Given the description of an element on the screen output the (x, y) to click on. 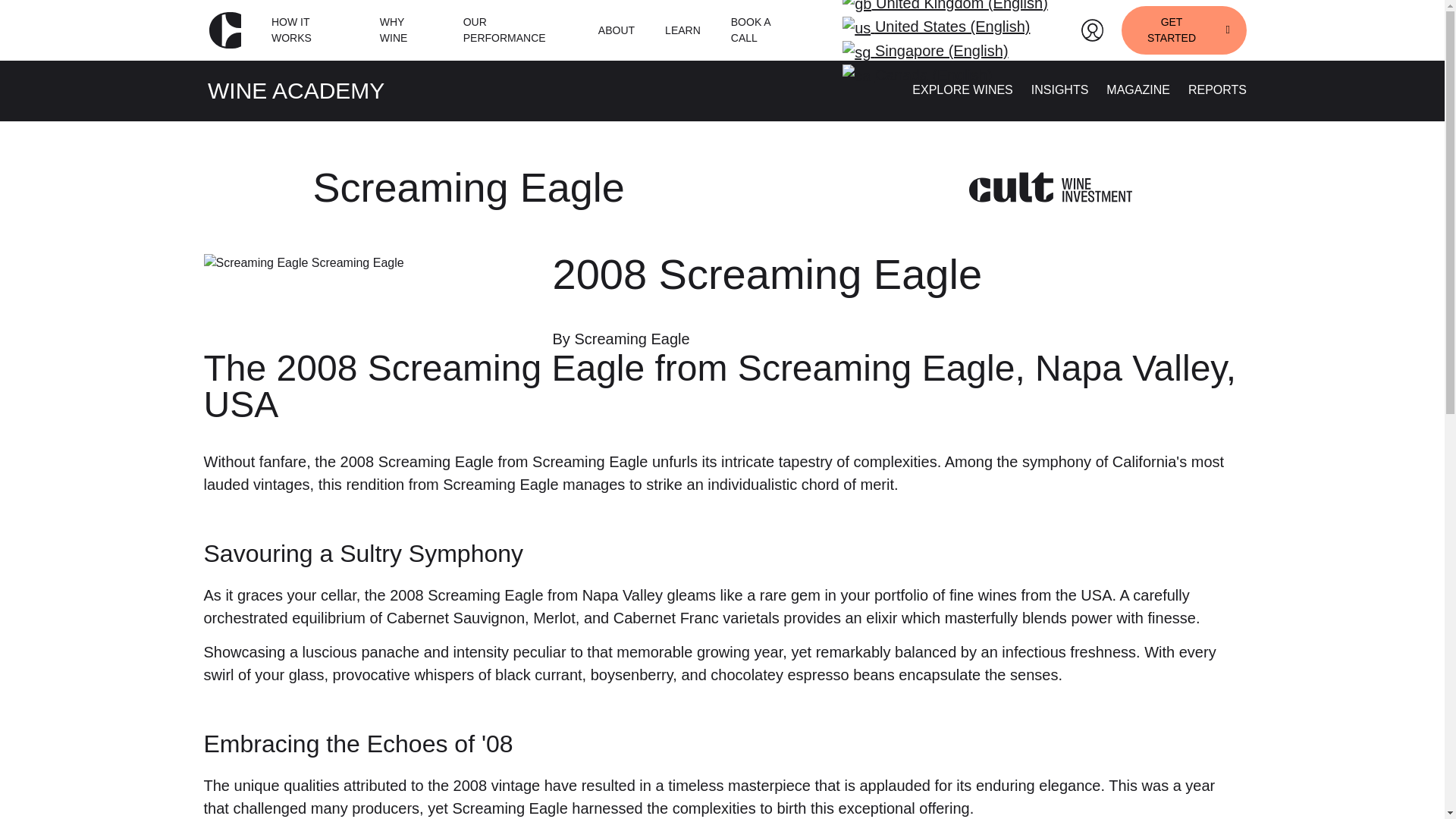
MAGAZINE (1138, 90)
WINE ACADEMY (296, 90)
GET STARTED (1183, 29)
REPORTS (1217, 90)
OUR PERFORMANCE (515, 30)
INSIGHTS (1059, 90)
HOW IT WORKS (309, 30)
EXPLORE WINES (961, 90)
Screaming Eagle (468, 186)
BOOK A CALL (763, 30)
